Given the description of an element on the screen output the (x, y) to click on. 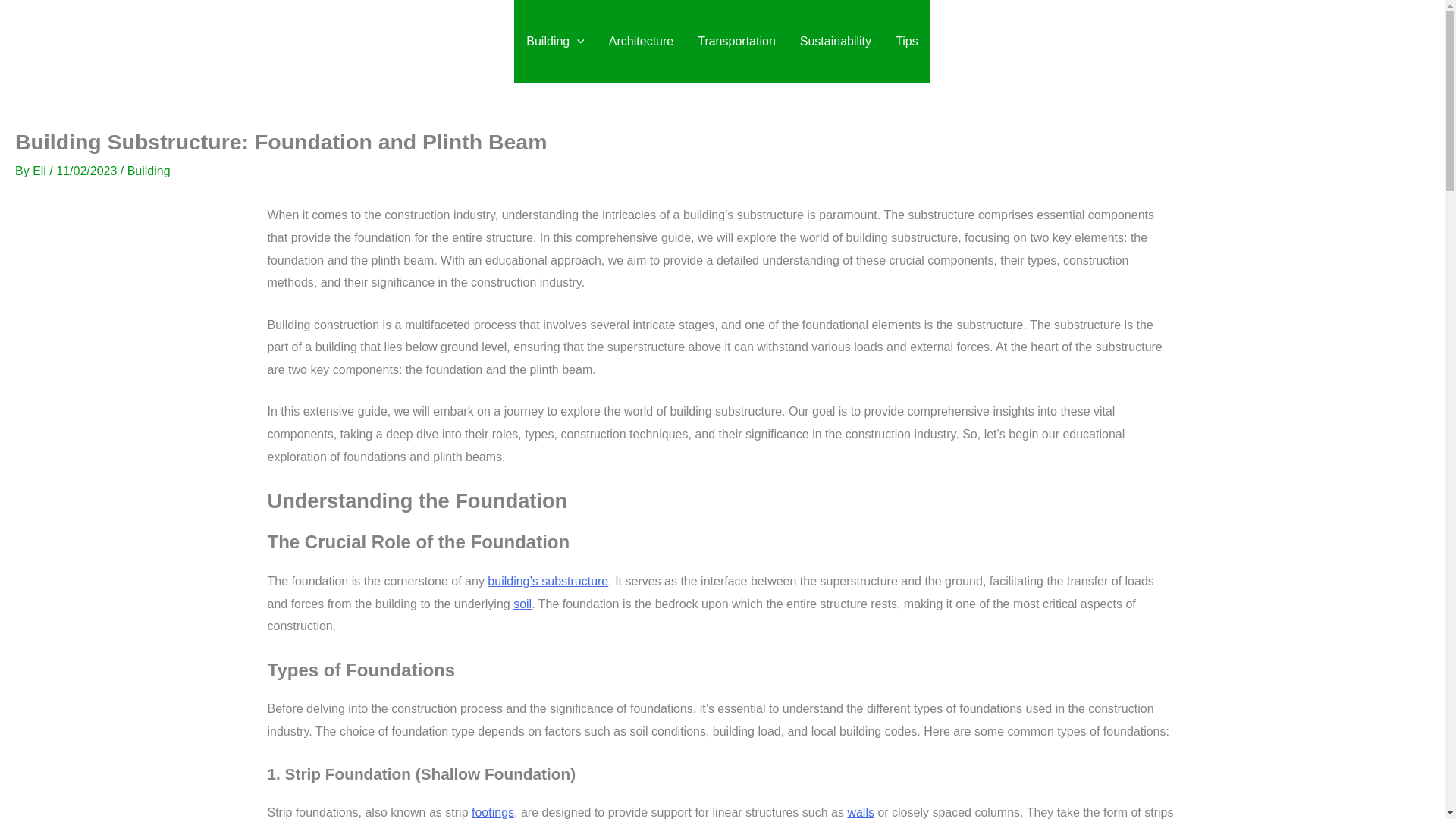
View all posts by Eli (40, 170)
soil (522, 603)
Sustainability (835, 41)
Transportation (736, 41)
footings (492, 812)
Building (554, 41)
Eli (40, 170)
Building (149, 170)
walls (861, 812)
Contact us (1356, 41)
Architecture (640, 41)
